Given the description of an element on the screen output the (x, y) to click on. 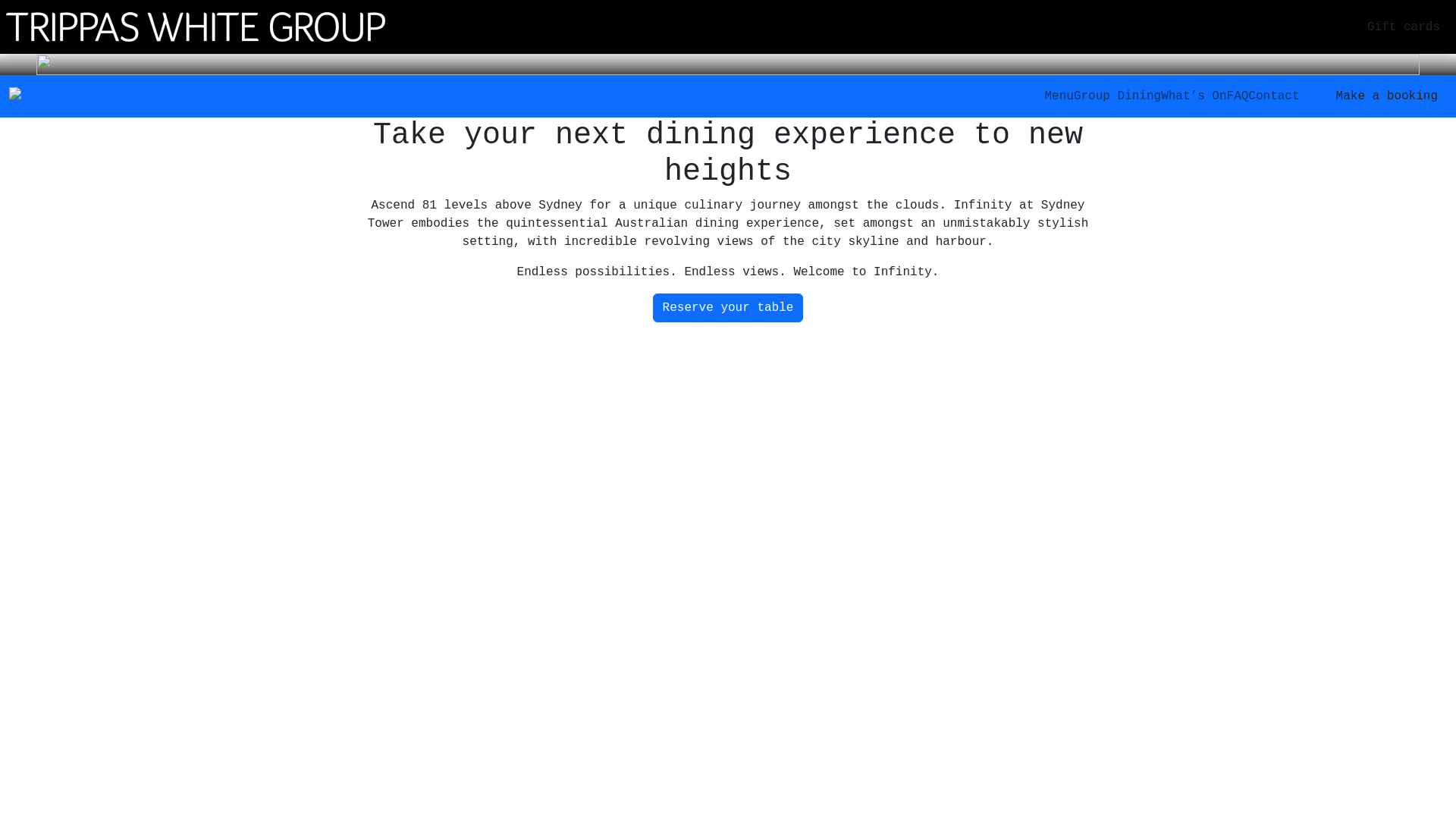
FAQ Element type: text (1237, 96)
Infinity at Sydney Tower Element type: hover (102, 96)
Infinity at Sydney Tower Element type: hover (102, 96)
Menu Element type: text (1058, 96)
Contact Element type: text (1273, 96)
Reserve your table Element type: text (727, 307)
Group Dining Element type: text (1117, 96)
Gift cards Element type: text (1403, 26)
Infinity at Sydney Tower Element type: hover (195, 27)
